Given the description of an element on the screen output the (x, y) to click on. 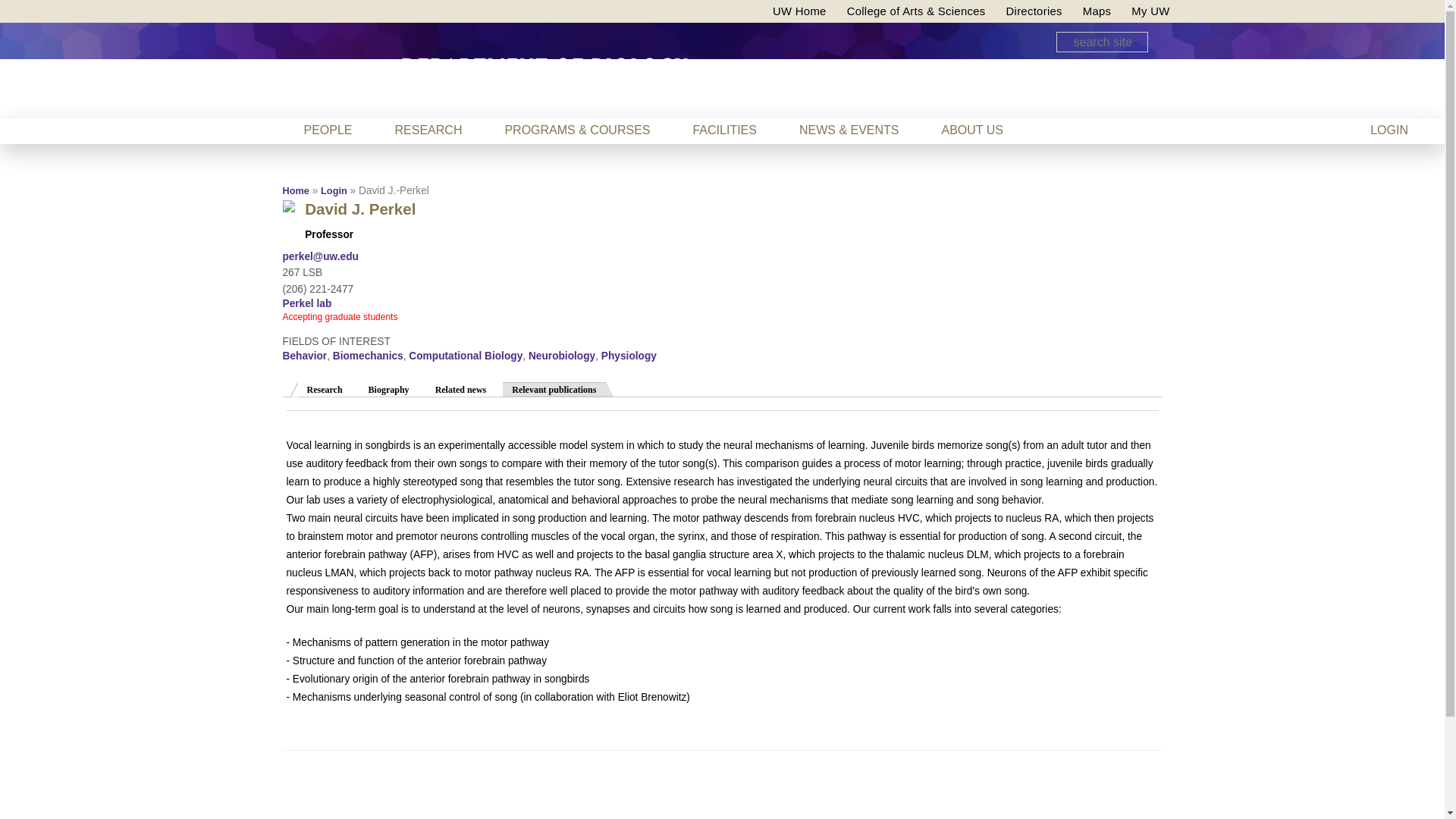
Login (333, 190)
Enter the terms you wish to search for. (1101, 41)
UW Directories (1033, 10)
Home (295, 190)
UW Home (800, 10)
Directories (1033, 10)
Home (544, 70)
My UW (1150, 10)
University of Washington (320, 81)
Maps (1097, 10)
My UW (1150, 10)
UW College of Arts and Sciences (916, 10)
UW Maps (1097, 10)
University of Washington Home (800, 10)
